Given the description of an element on the screen output the (x, y) to click on. 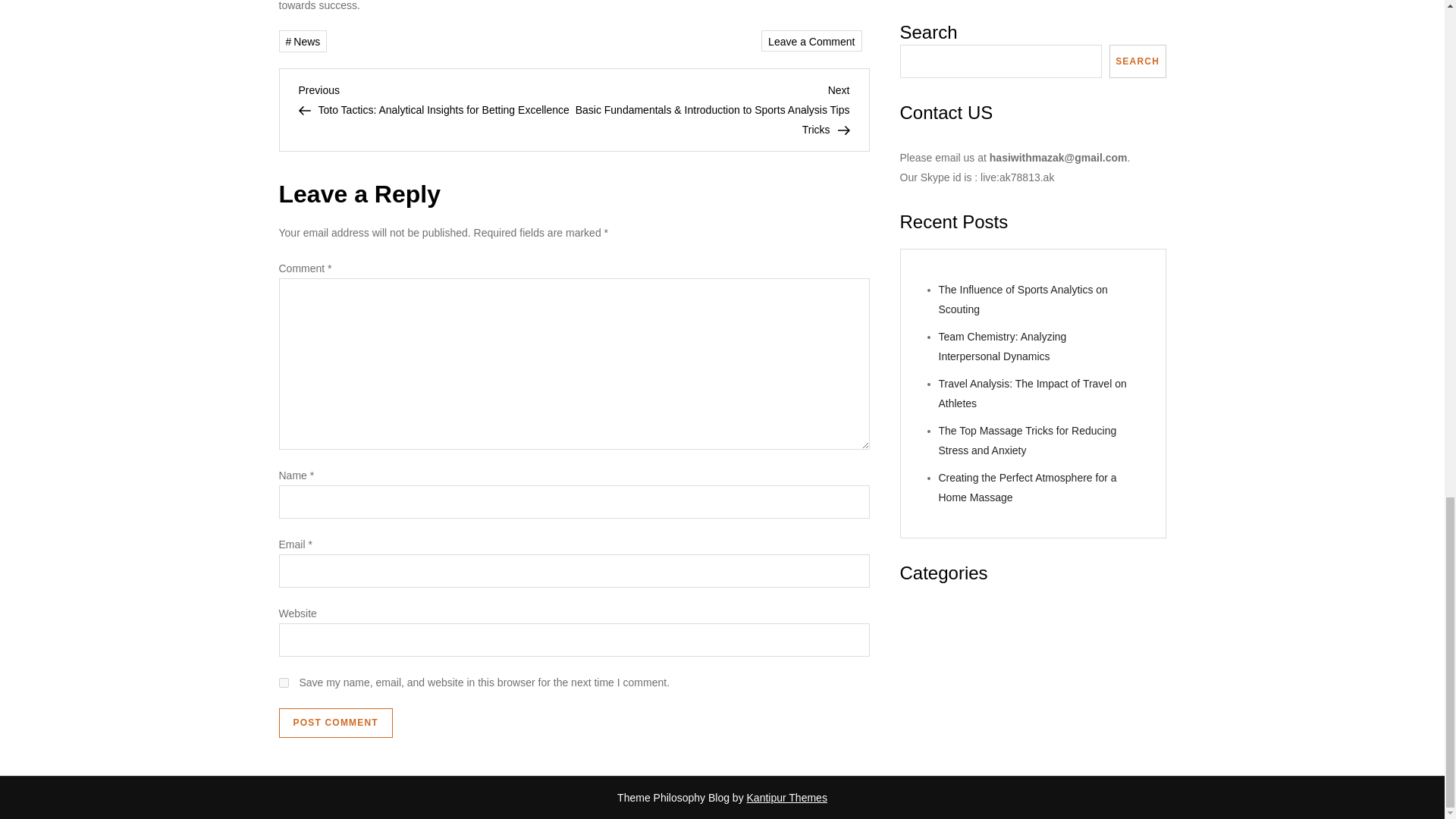
News (303, 41)
Post Comment (336, 723)
yes (283, 682)
